Given the description of an element on the screen output the (x, y) to click on. 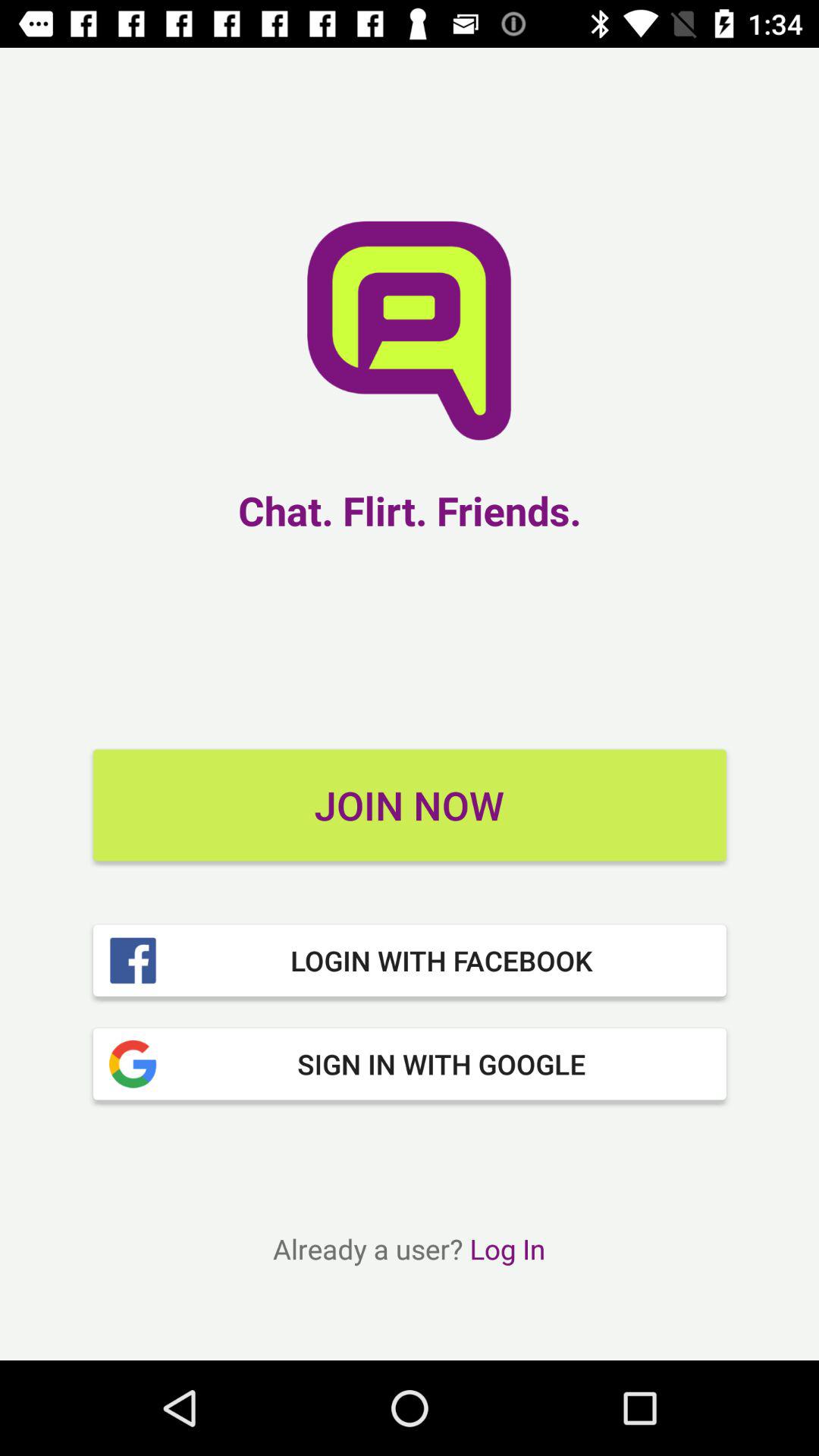
open item above the sign in with (409, 960)
